Given the description of an element on the screen output the (x, y) to click on. 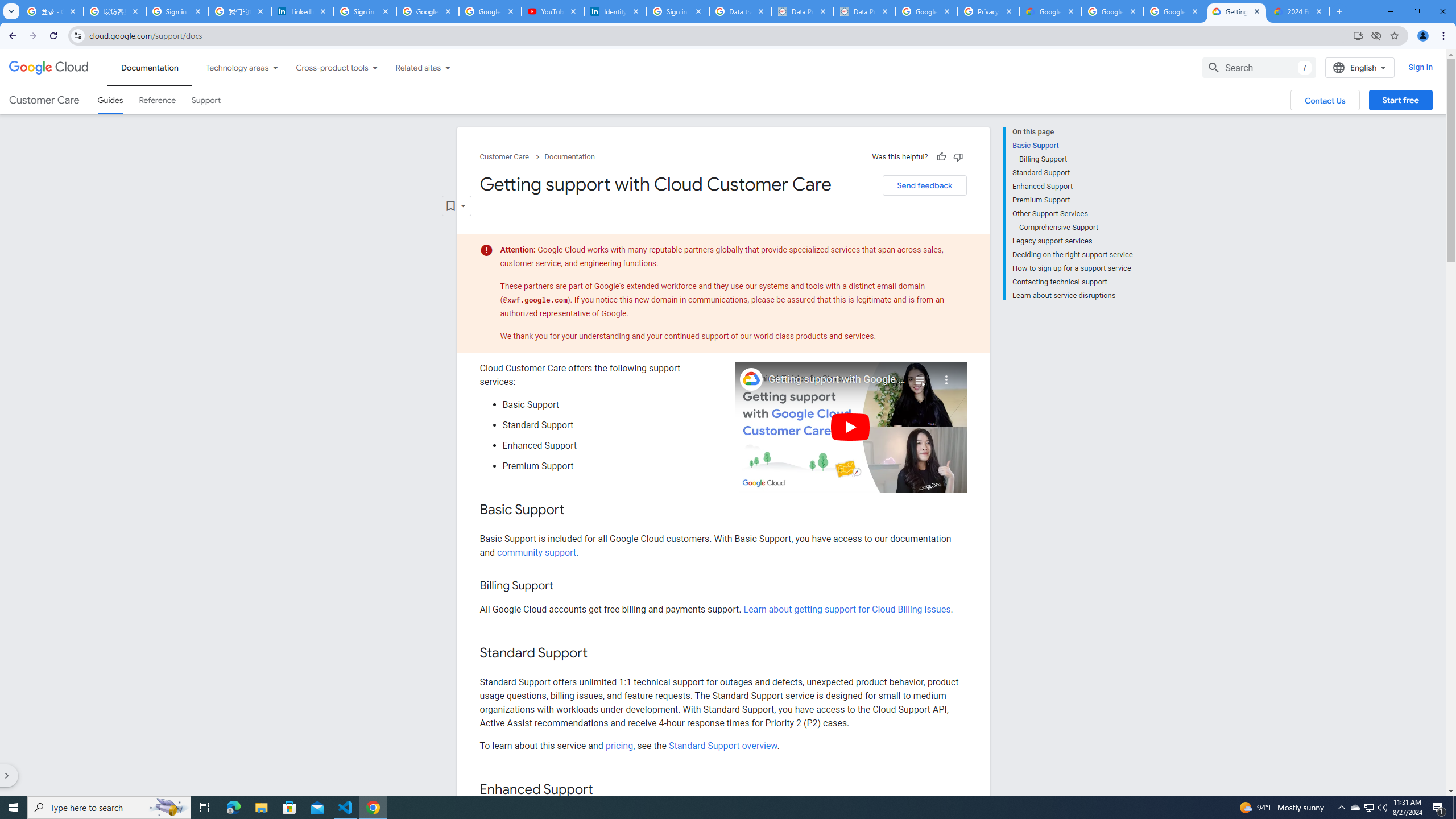
Not helpful (957, 156)
Deciding on the right support service (1071, 254)
Sign in - Google Accounts (365, 11)
Enhanced Support (1071, 186)
Documentation, selected (149, 67)
Start free (1400, 100)
